Given the description of an element on the screen output the (x, y) to click on. 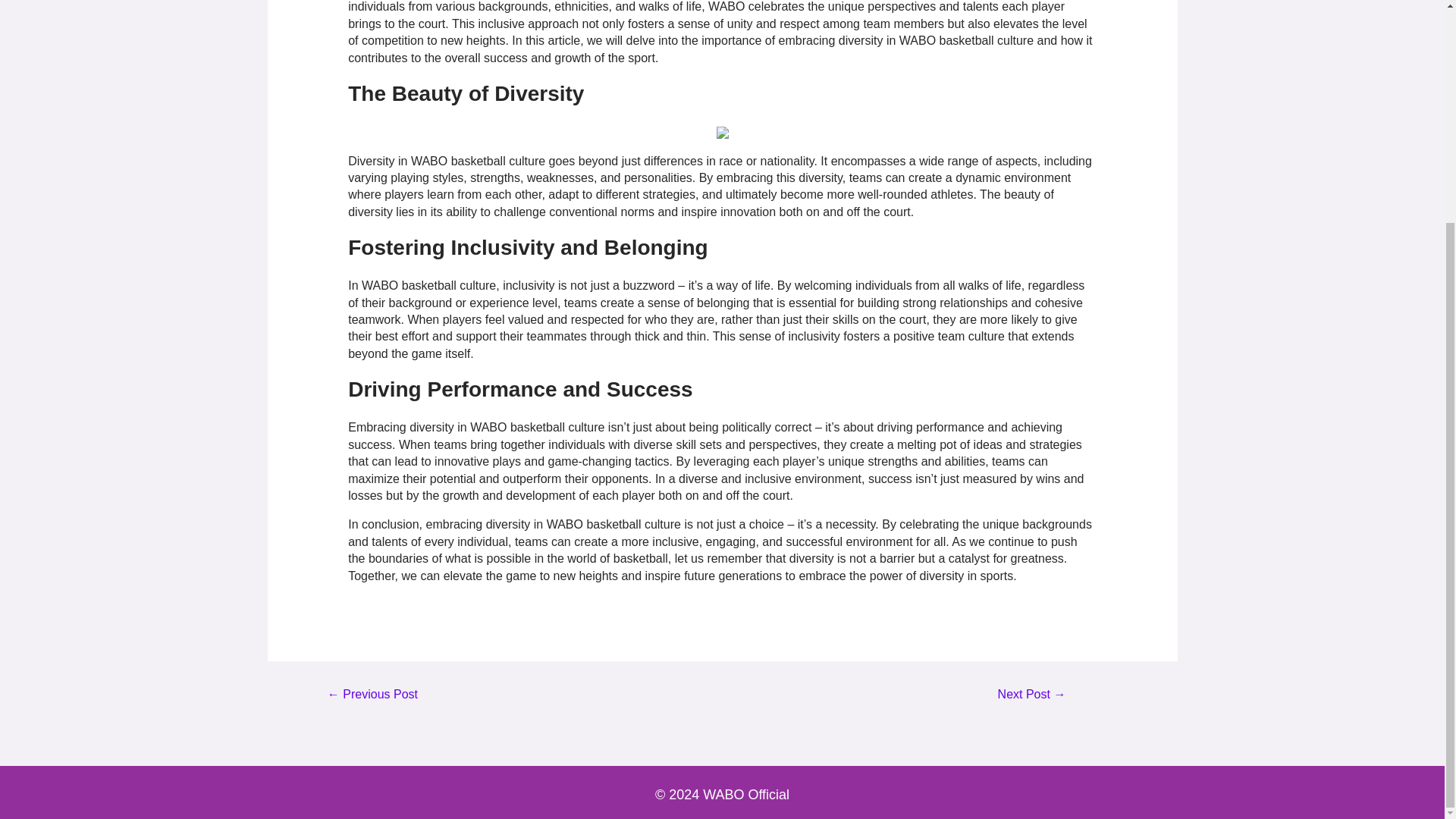
Embracing Diversity in WABO Softball (1031, 700)
